Given the description of an element on the screen output the (x, y) to click on. 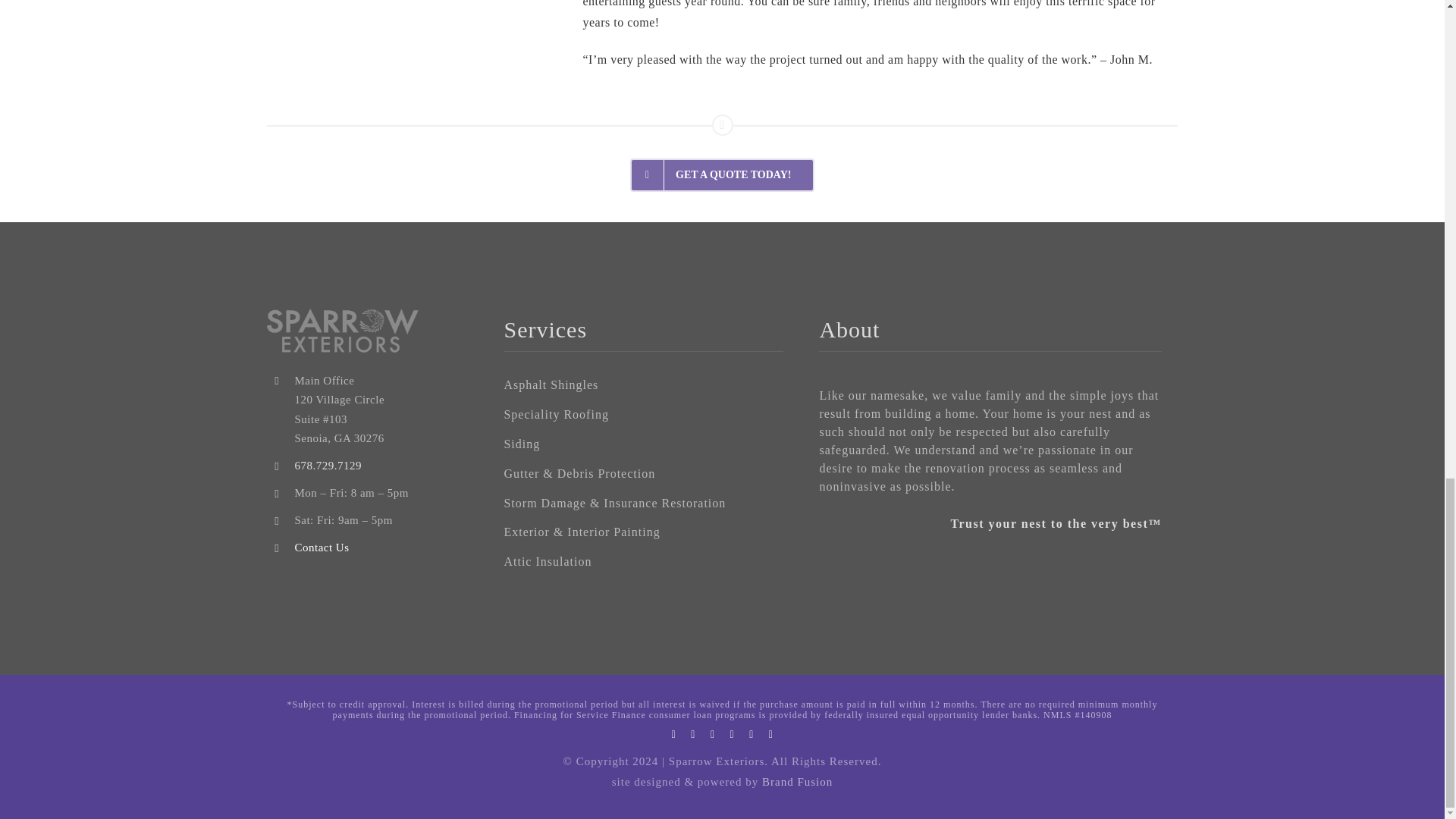
sparrow-logo-bw (342, 330)
Attic Insulation (643, 562)
GET A QUOTE TODAY! (722, 174)
Contact Us (321, 547)
678.729.7129 (327, 465)
Speciality Roofing (643, 414)
GET A QUOTE TODAY! (721, 154)
Siding (643, 444)
Asphalt Shingles (643, 385)
